Given the description of an element on the screen output the (x, y) to click on. 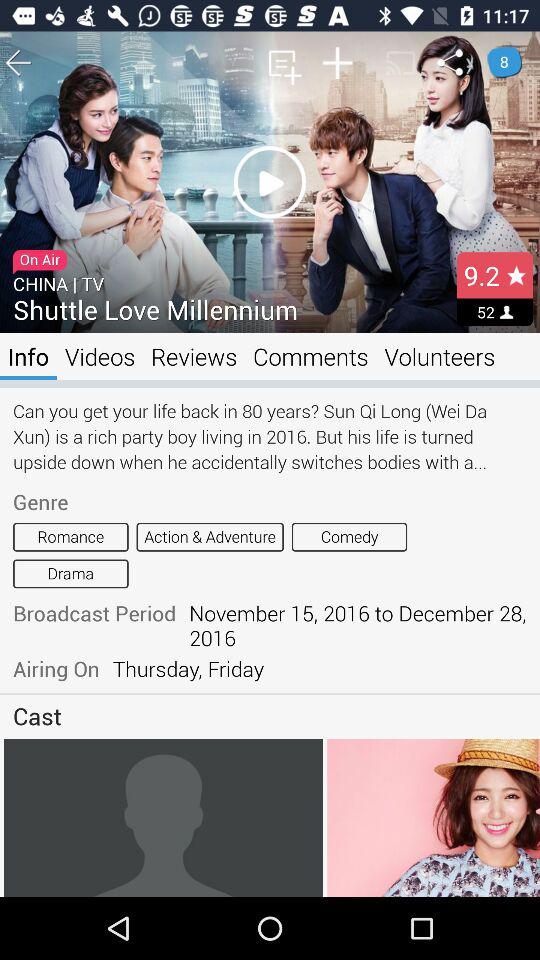
click the icon above the drama icon (70, 536)
